Given the description of an element on the screen output the (x, y) to click on. 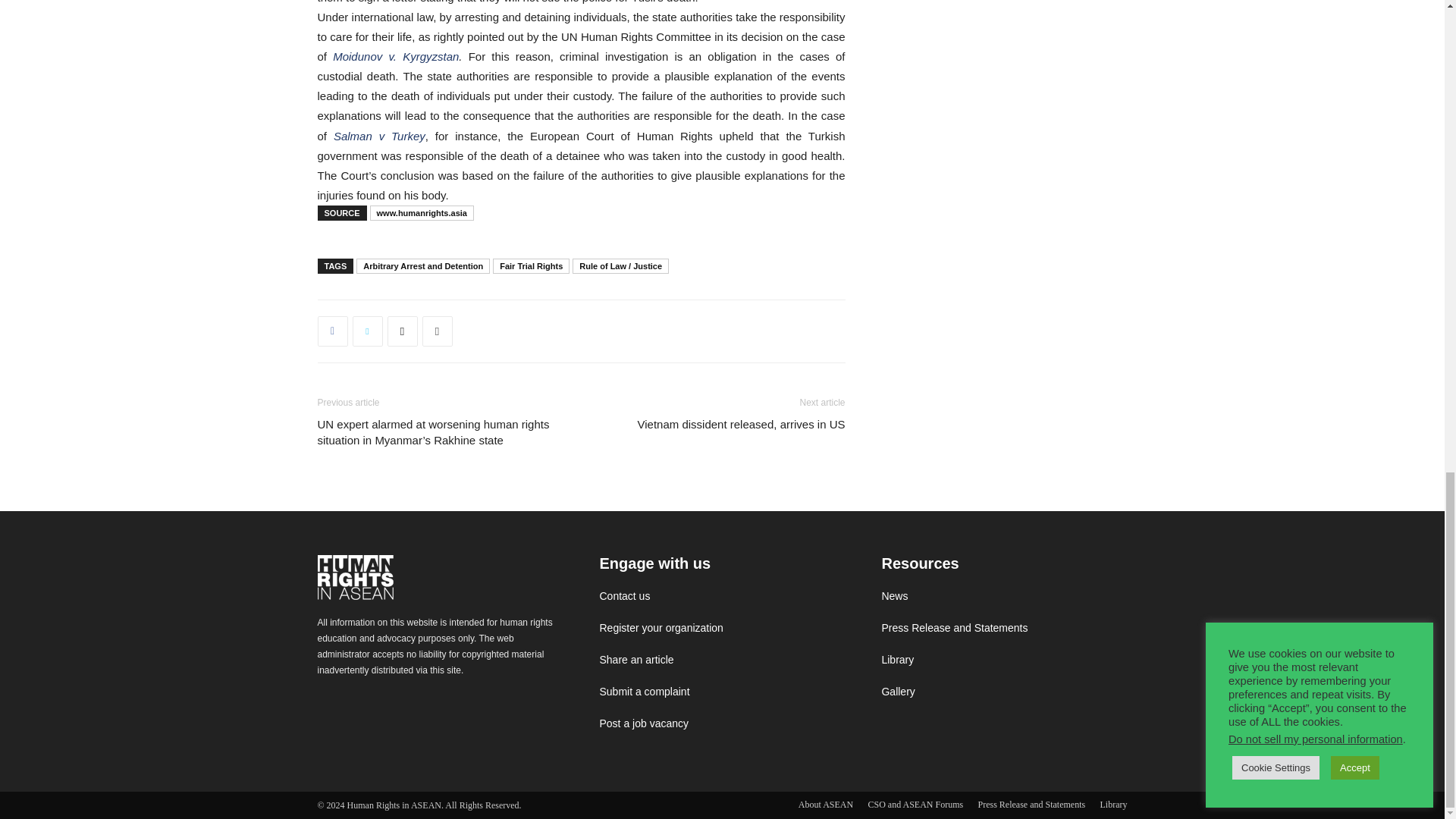
www.humanrights.asia (421, 212)
